Given the description of an element on the screen output the (x, y) to click on. 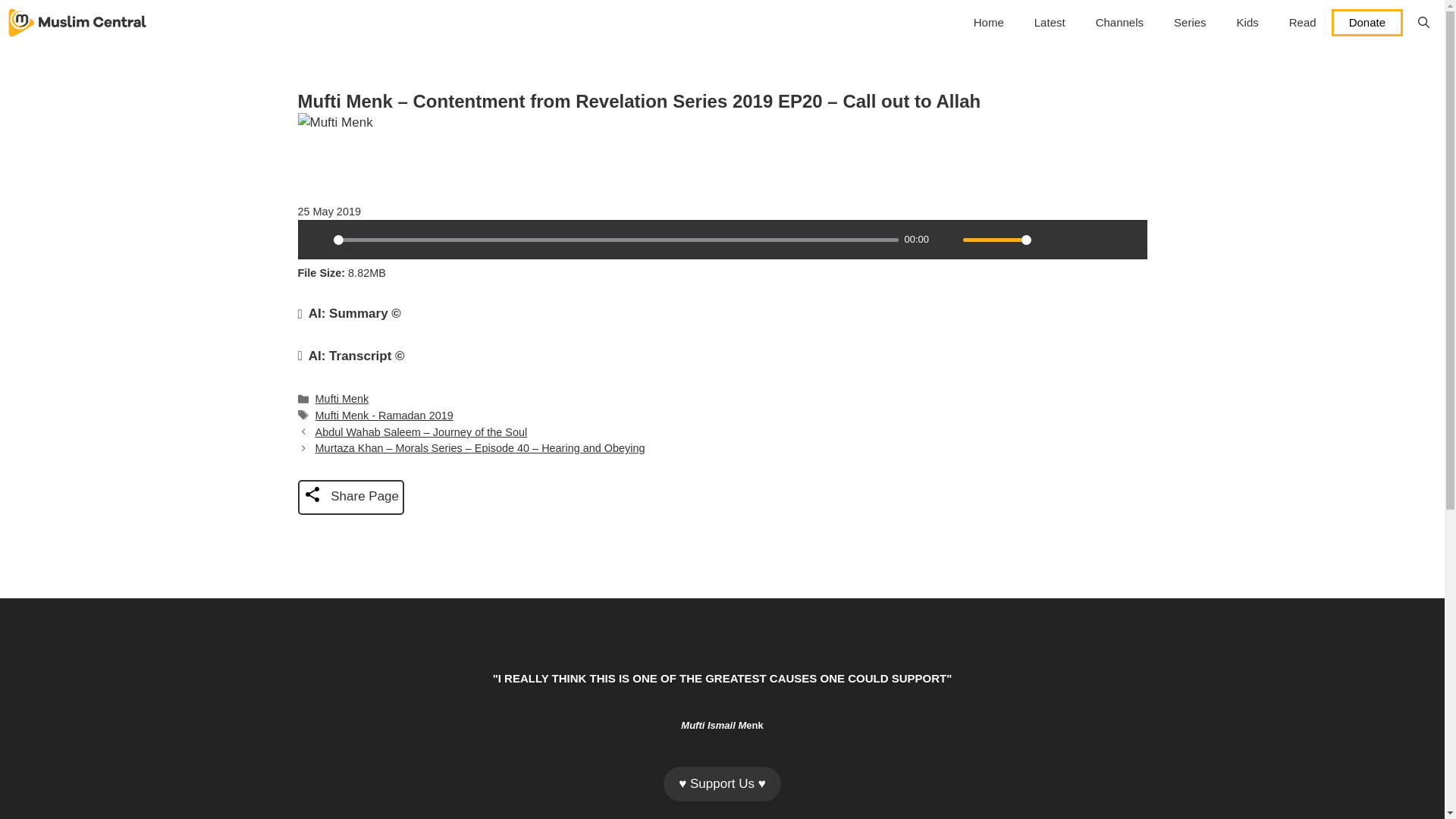
1 (996, 239)
Home (988, 22)
Mufti Menk - Ramadan 2019 (383, 415)
Play (316, 239)
Mufti Menk (342, 398)
Settings (1048, 239)
Forward 10s (1126, 239)
Latest (1049, 22)
Download (1074, 239)
Kids (1247, 22)
